Given the description of an element on the screen output the (x, y) to click on. 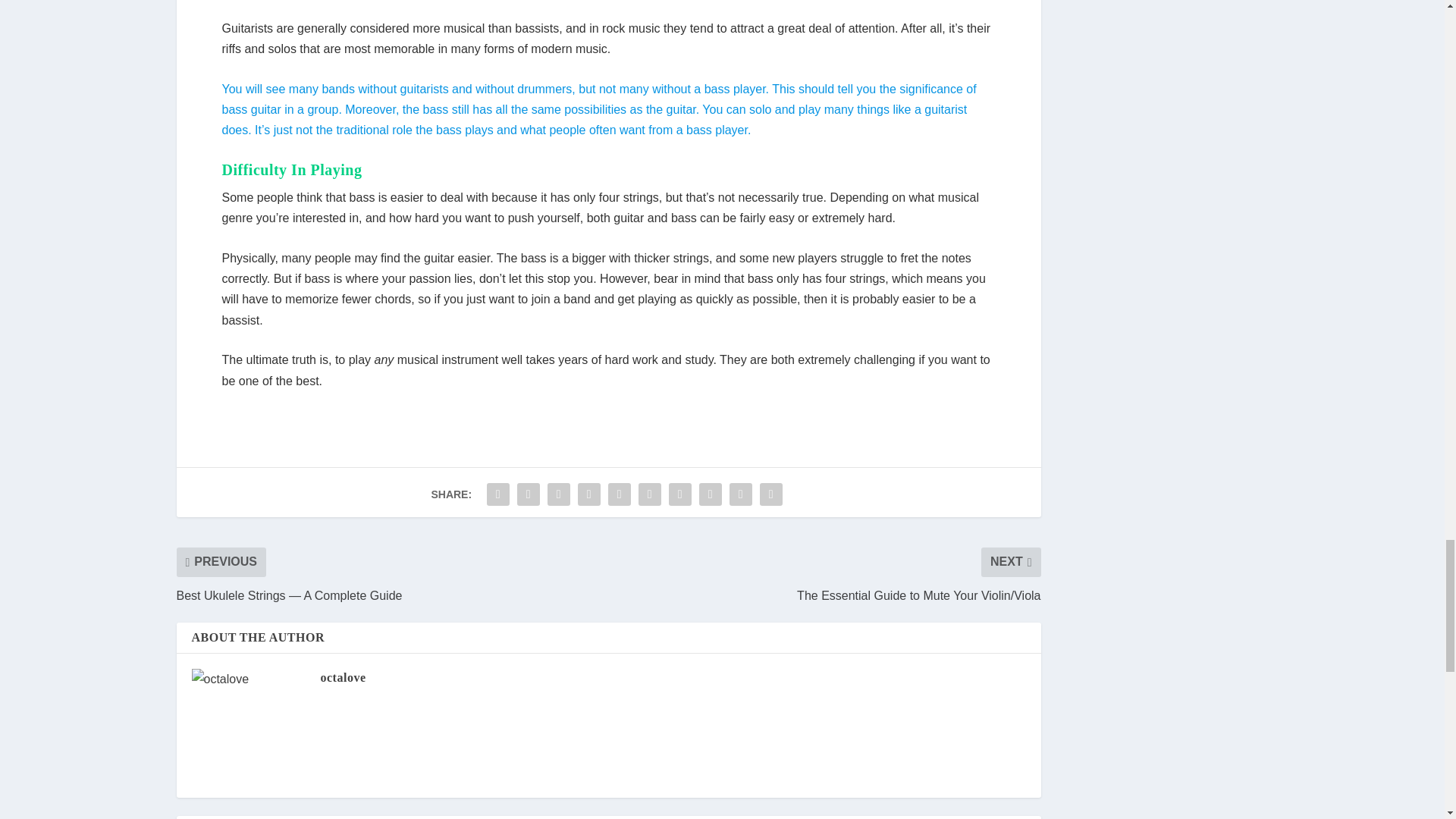
View all posts by octalove (342, 676)
